Given the description of an element on the screen output the (x, y) to click on. 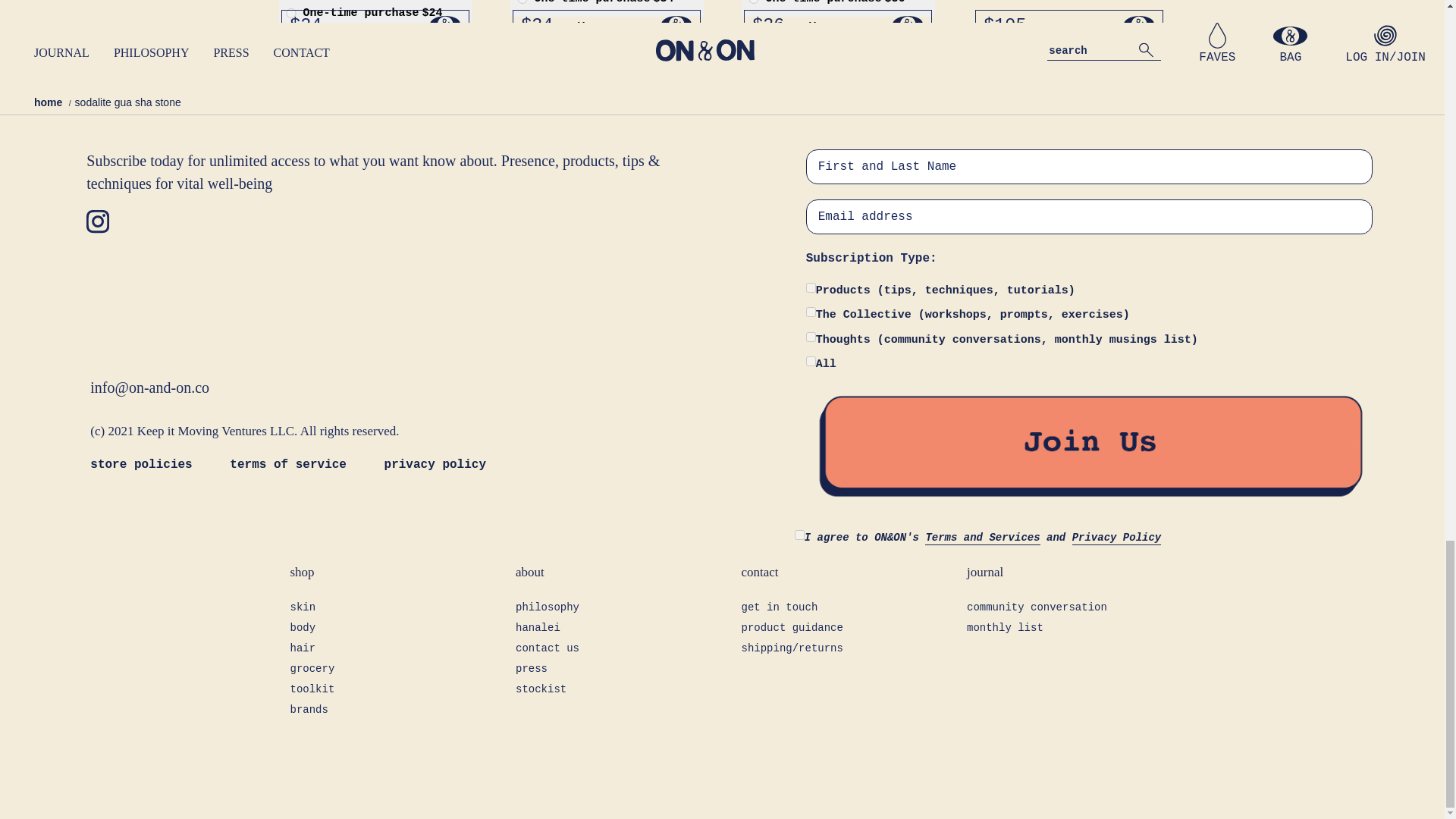
Collective (810, 311)
All (810, 361)
onetime (291, 13)
Products (810, 287)
subsave (291, 41)
onetime (521, 2)
Thoughts (810, 337)
subsave (754, 27)
1 (799, 534)
onetime (754, 2)
subsave (521, 27)
